Given the description of an element on the screen output the (x, y) to click on. 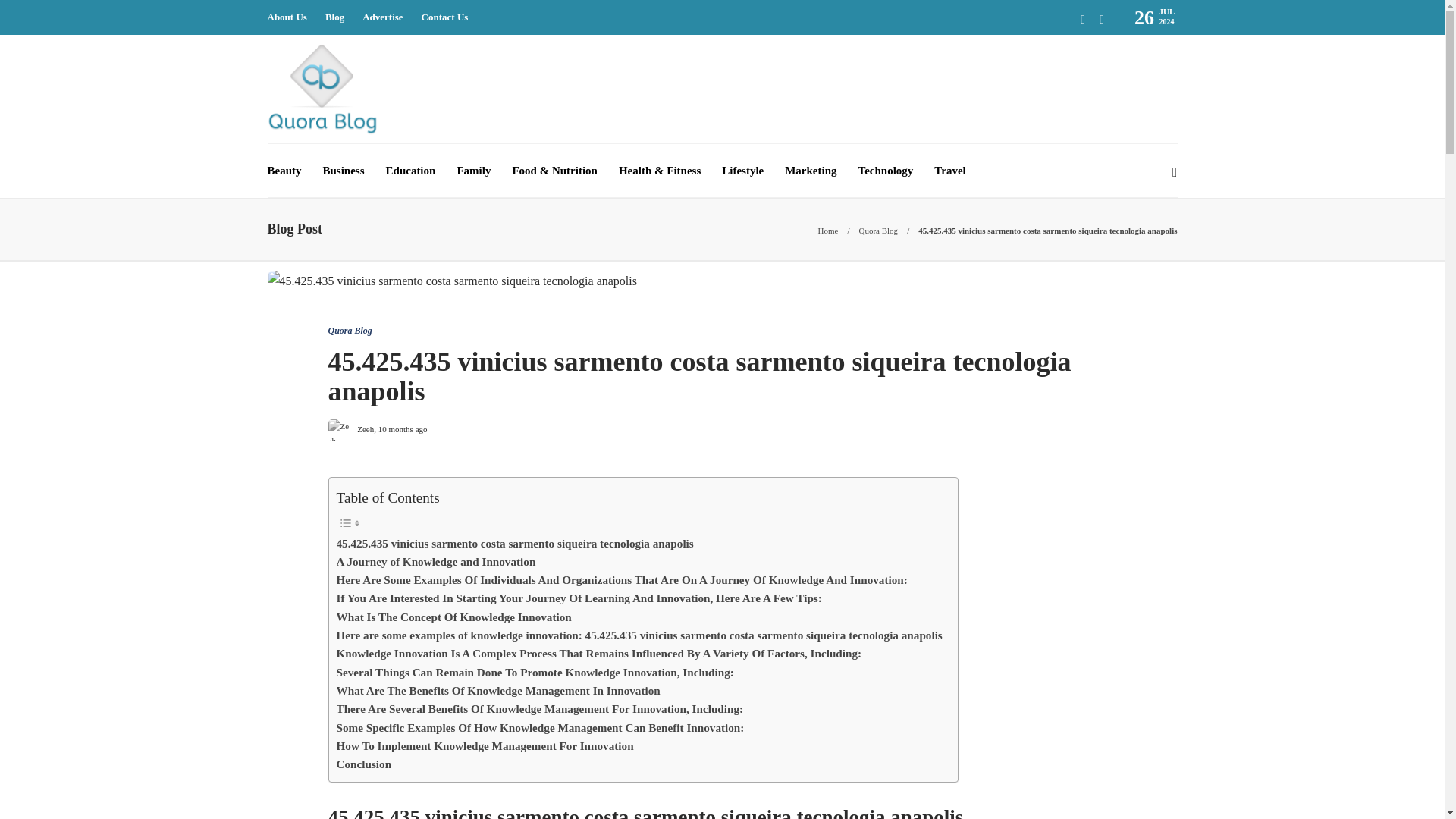
How To Implement Knowledge Management For Innovation (484, 746)
About Us (285, 17)
Home (828, 230)
What Is The Concept Of Knowledge Innovation (454, 617)
Advertise (382, 17)
Contact Us (445, 17)
Education (410, 170)
What Are The Benefits Of Knowledge Management In Innovation (498, 690)
A Journey of Knowledge and Innovation (435, 561)
Conclusion (363, 764)
